Given the description of an element on the screen output the (x, y) to click on. 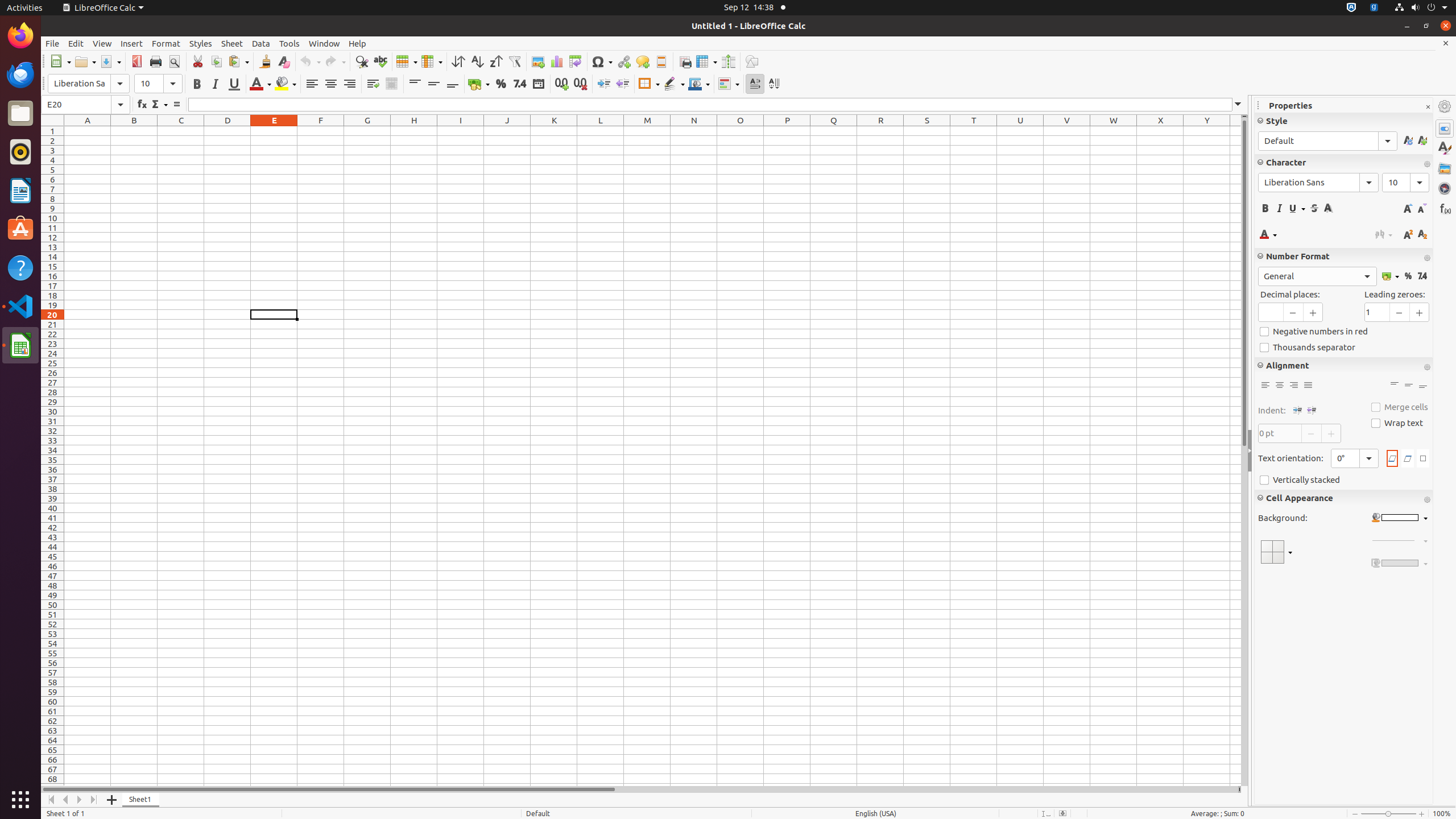
V1 Element type: table-cell (1066, 130)
Tools Element type: menu (289, 43)
Sheet1 Element type: page-tab (140, 799)
Merge cells Element type: check-box (1399, 406)
Number Element type: toggle-button (1422, 275)
